Given the description of an element on the screen output the (x, y) to click on. 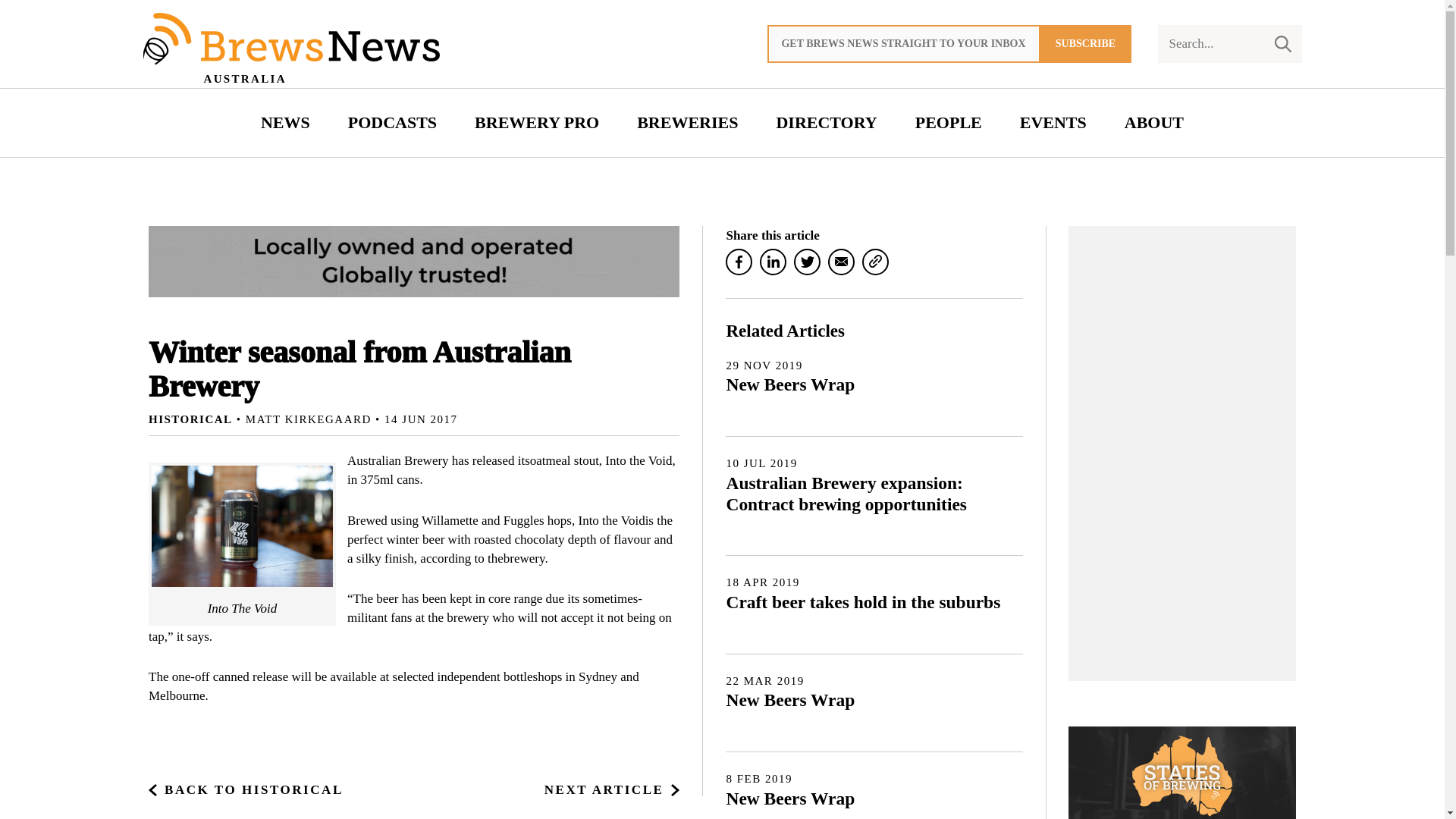
LinkedIn (773, 261)
Subscribe (1086, 44)
Email (841, 261)
Copy link (874, 261)
BREWERY PRO (536, 122)
Subscribe (1086, 44)
NEWS (284, 122)
SEARCH (1282, 44)
Facebook (738, 261)
PEOPLE (948, 122)
